Given the description of an element on the screen output the (x, y) to click on. 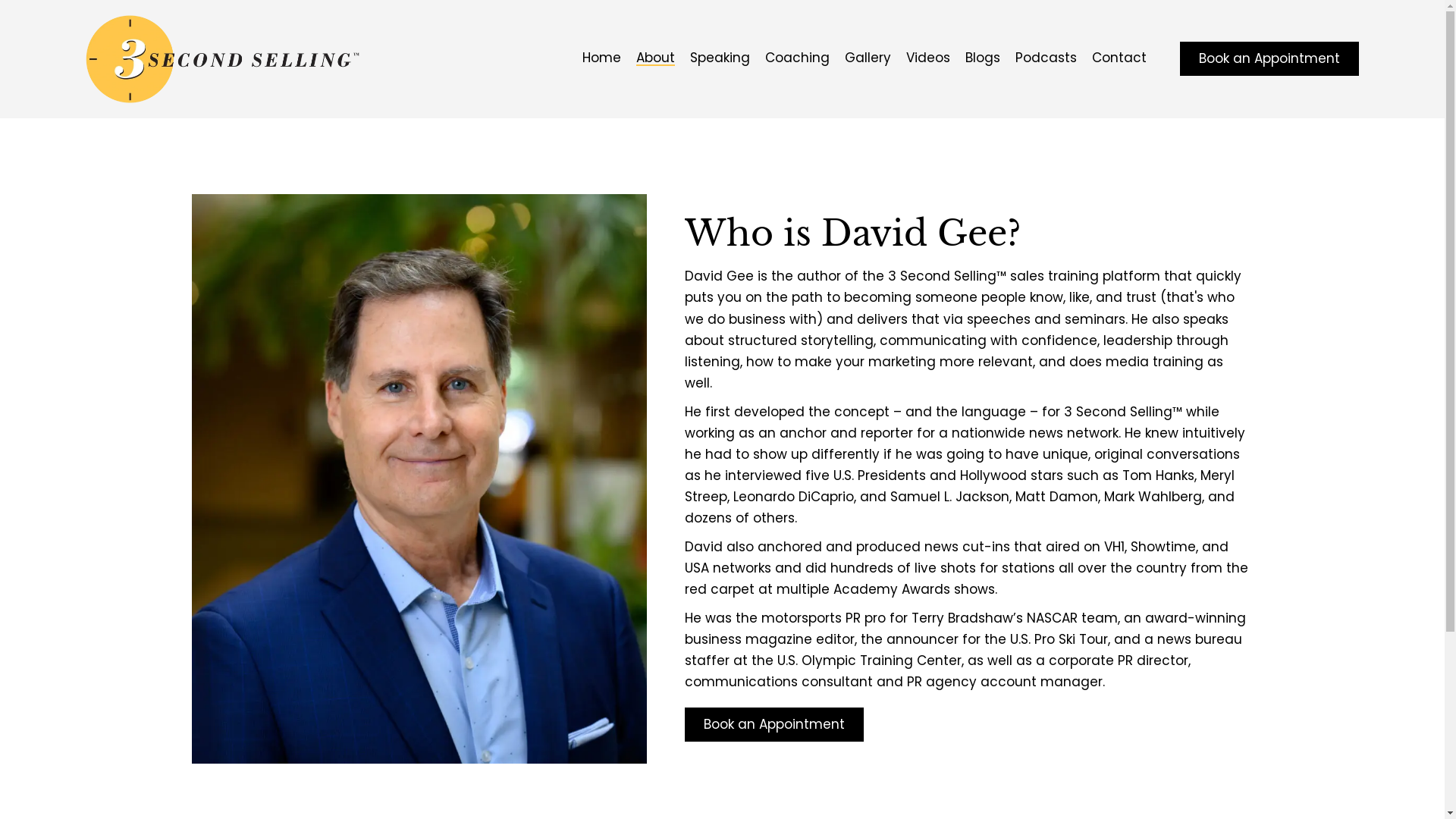
Blogs Element type: text (982, 58)
3 Second Selling Element type: hover (418, 478)
3 Second Selling Element type: hover (221, 59)
About Element type: text (655, 58)
Coaching Element type: text (797, 58)
Home Element type: text (601, 58)
Videos Element type: text (928, 58)
Book an Appointment Element type: text (1268, 58)
Speaking Element type: text (719, 58)
Book an Appointment Element type: text (773, 724)
Gallery Element type: text (867, 58)
Contact Element type: text (1119, 58)
Podcasts Element type: text (1045, 58)
